Given the description of an element on the screen output the (x, y) to click on. 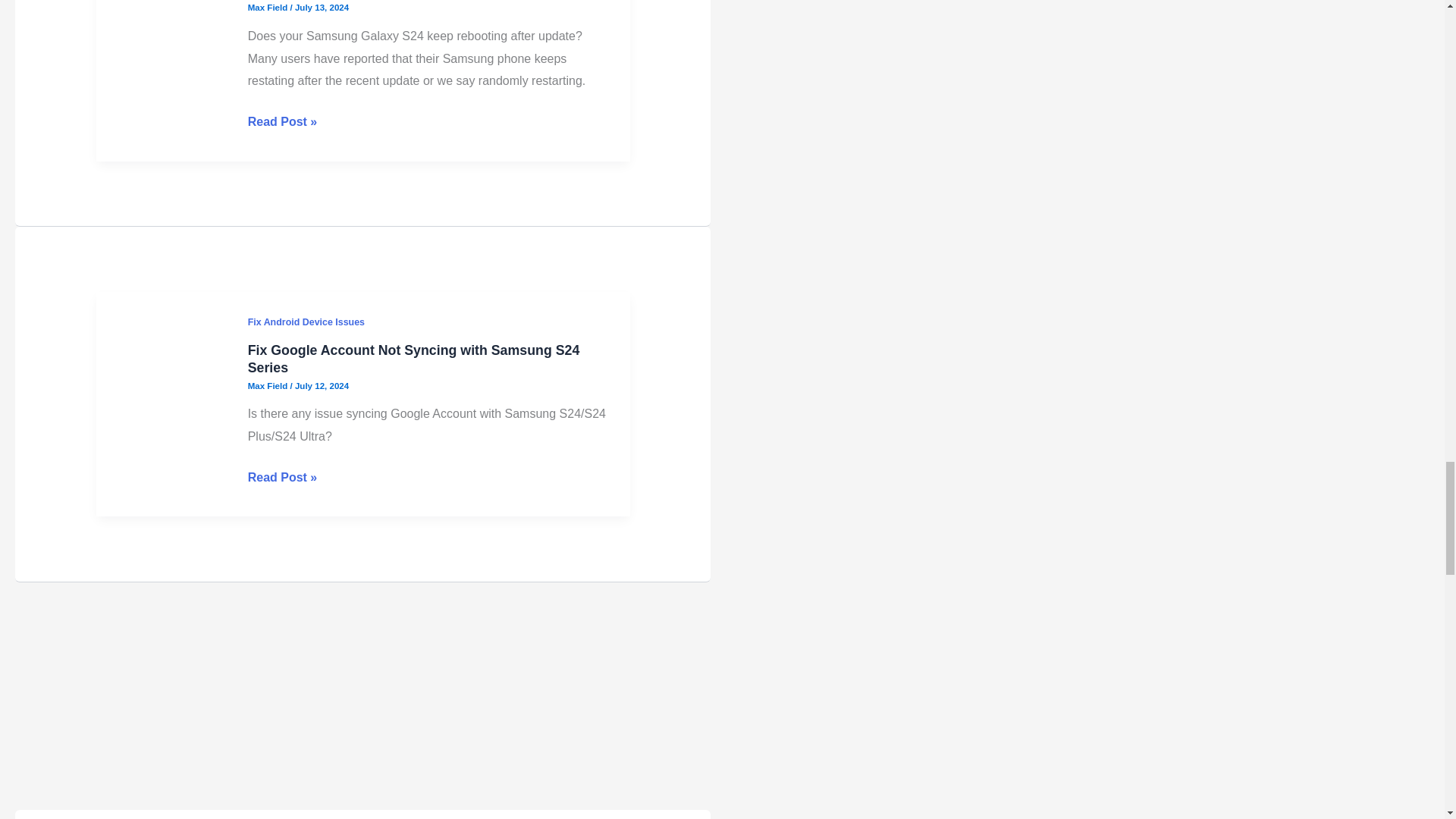
View all posts by Max Field (268, 7)
View all posts by Max Field (268, 385)
